Given the description of an element on the screen output the (x, y) to click on. 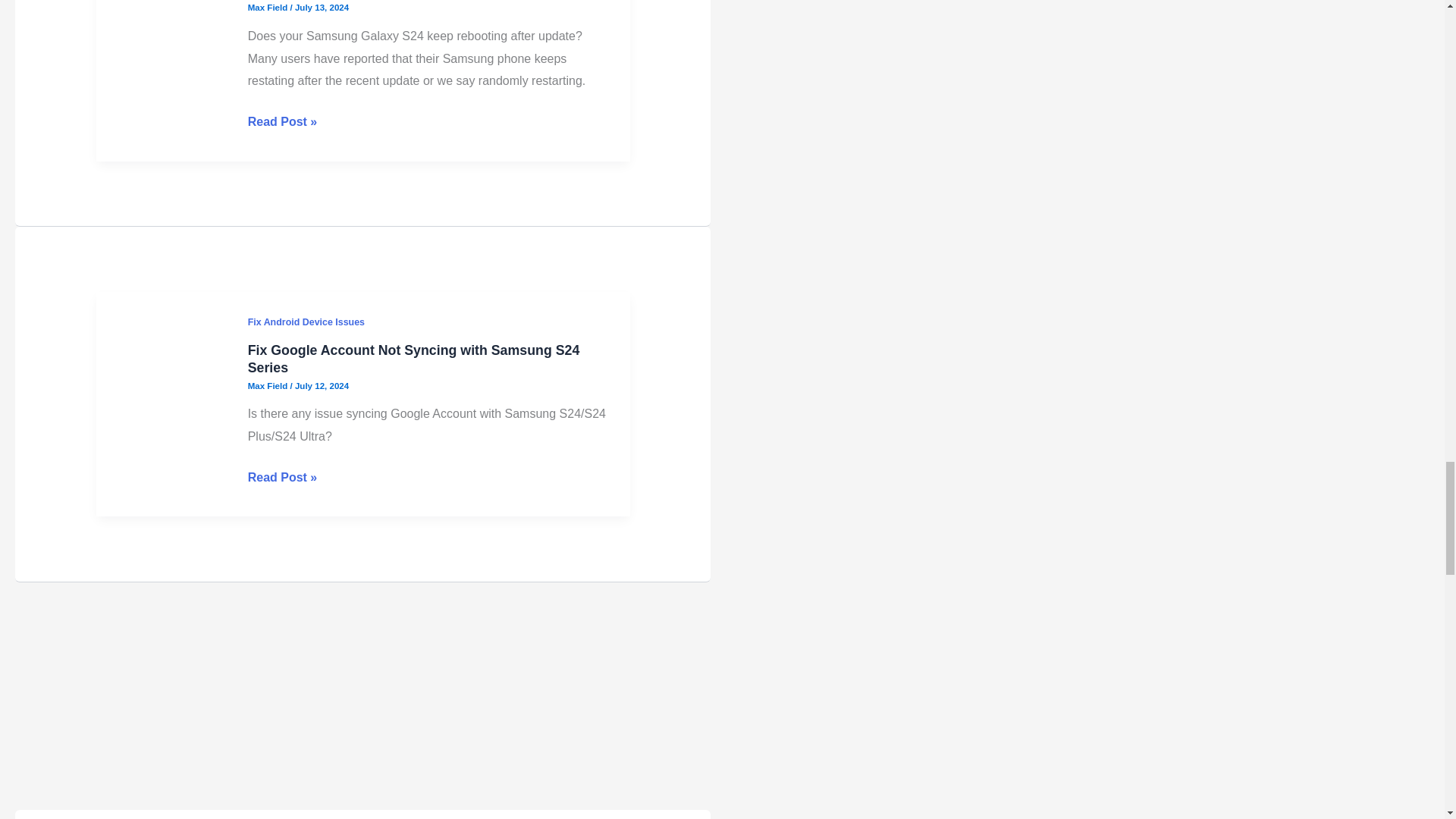
View all posts by Max Field (268, 7)
View all posts by Max Field (268, 385)
